Given the description of an element on the screen output the (x, y) to click on. 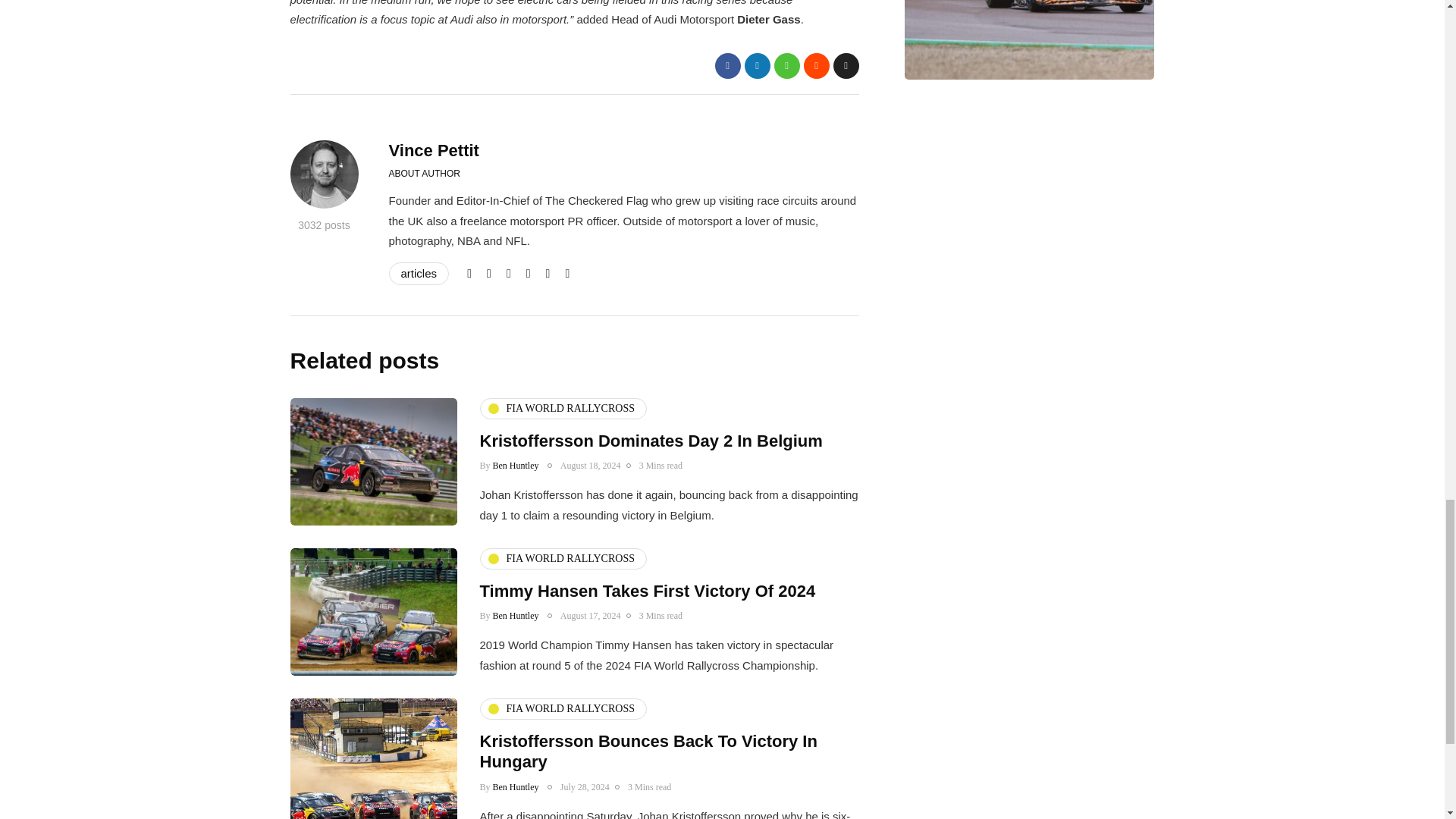
Share on Reddit (816, 65)
Share with Facebook (726, 65)
Share with LinkedIn (757, 65)
Share to WhatsApp (786, 65)
Posts by Vince Pettit (433, 149)
Share by Email (845, 65)
